Given the description of an element on the screen output the (x, y) to click on. 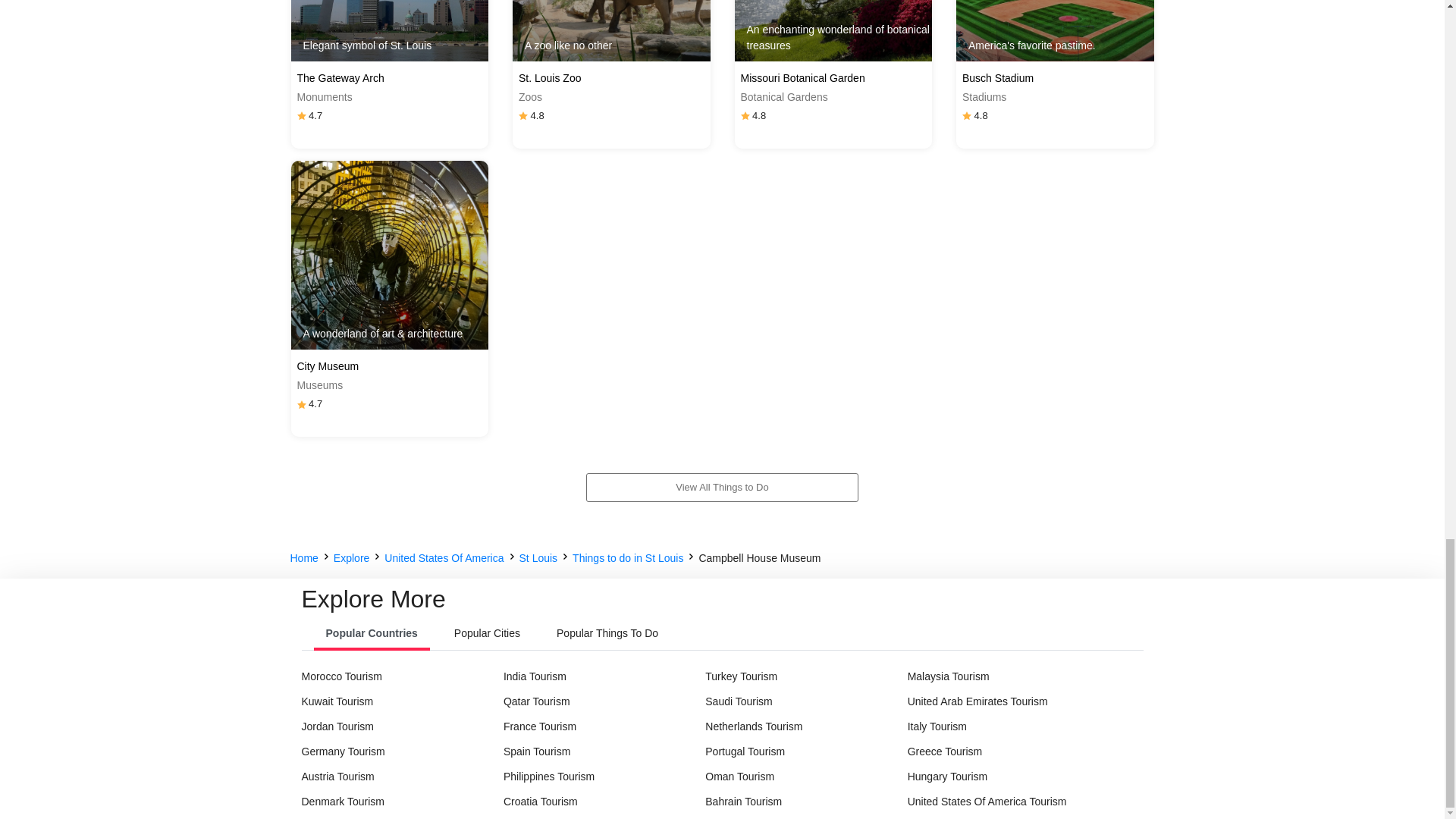
America's favorite pastime. (1055, 30)
Home (303, 558)
View All Things to Do (722, 487)
United States Of America (443, 558)
Explore (351, 558)
Explore St. Louis Zoo  (611, 30)
Things to do in St Louis (627, 558)
Explore Busch Stadium  (1055, 30)
Monuments (390, 97)
Botanical Gardens (832, 97)
Zoos (611, 97)
A zoo like no other (611, 30)
The Gateway Arch (390, 78)
View All Things to Do (722, 492)
Missouri Botanical Garden (832, 78)
